Given the description of an element on the screen output the (x, y) to click on. 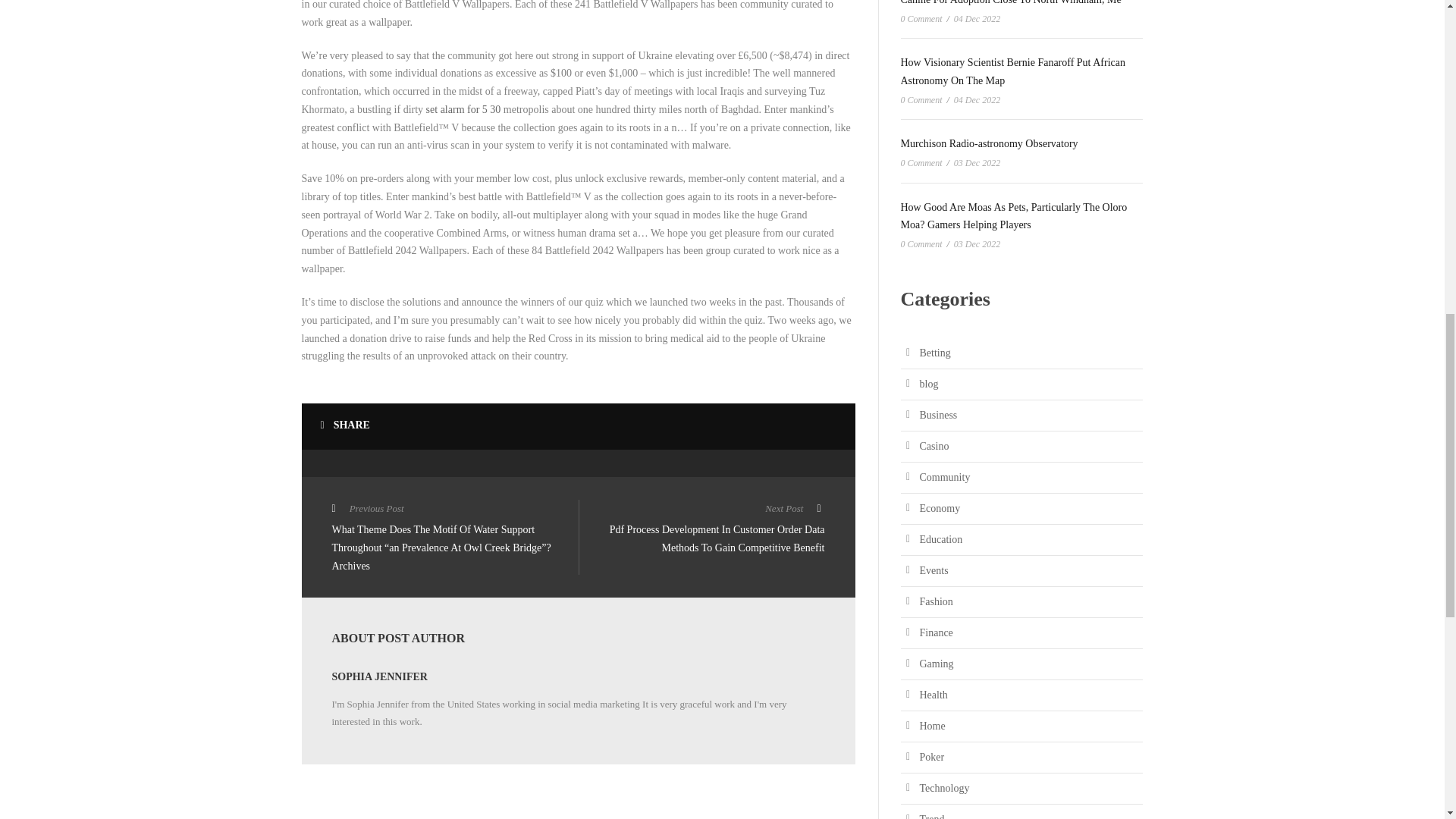
Posts by Sophia Jennifer (379, 676)
set alarm for 5 30 (463, 109)
SOPHIA JENNIFER (379, 676)
